Given the description of an element on the screen output the (x, y) to click on. 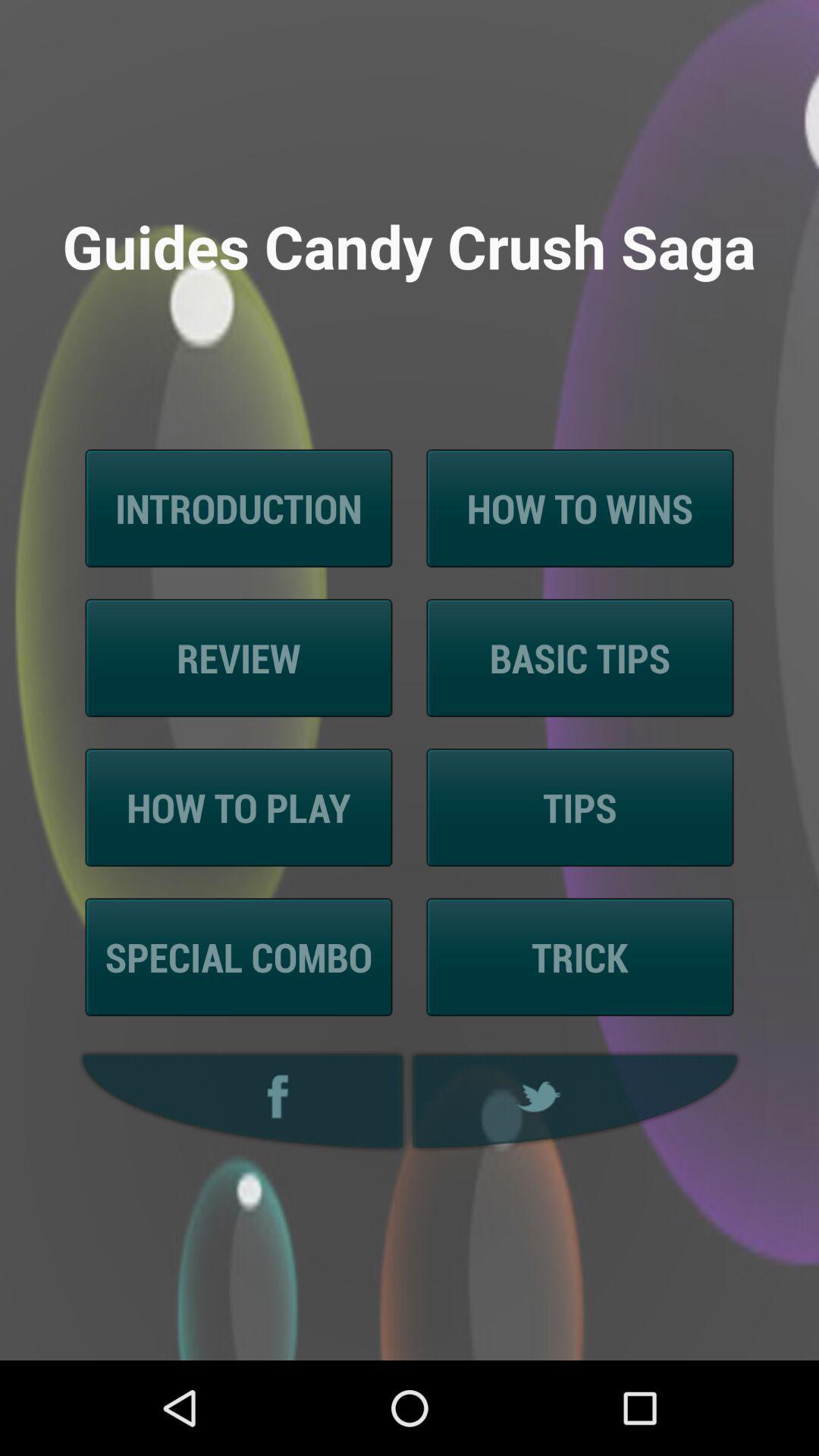
choose the review item (238, 657)
